Given the description of an element on the screen output the (x, y) to click on. 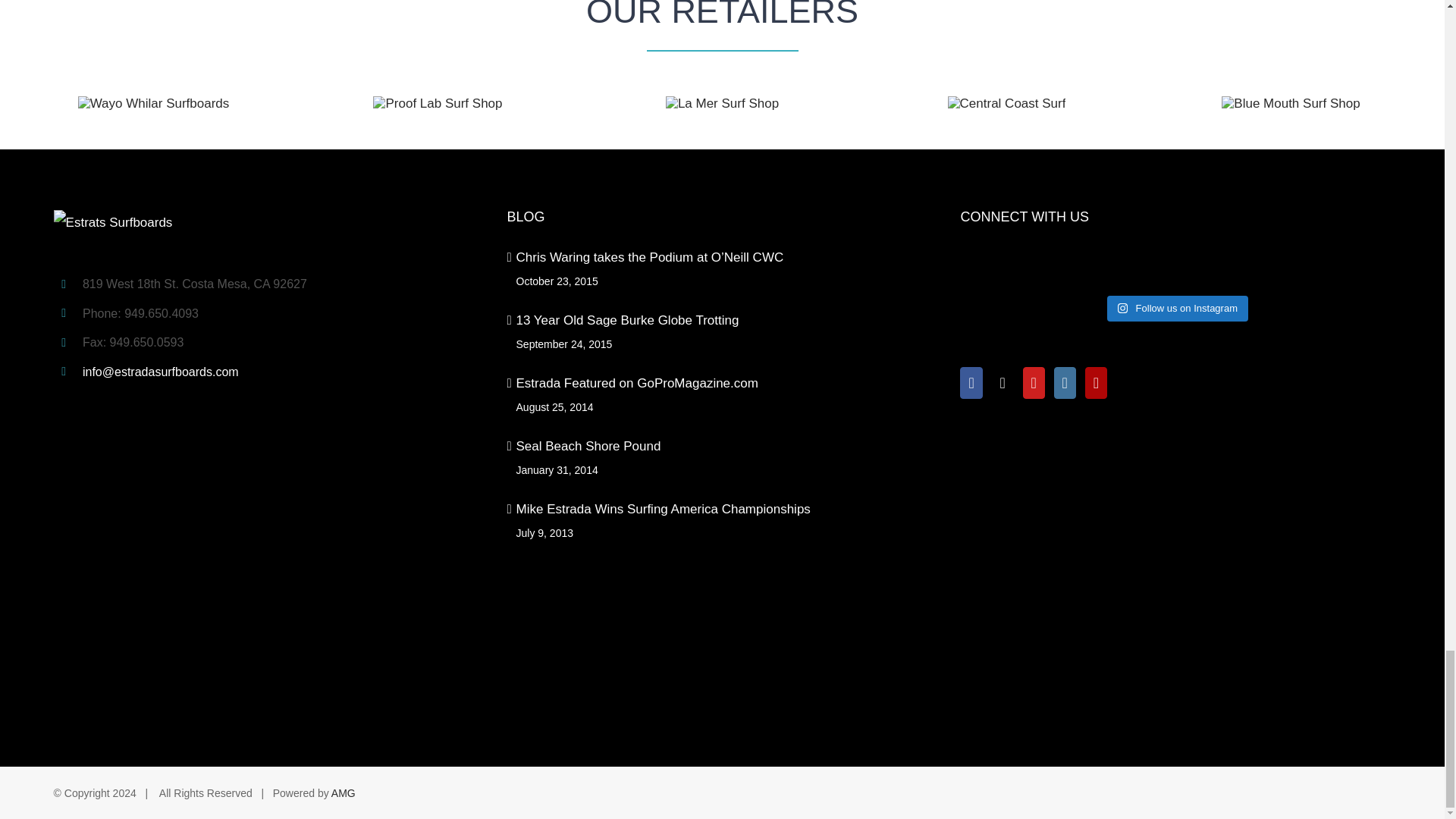
Seal Beach Shore Pound (723, 446)
13 Year Old Sage Burke Globe Trotting (723, 320)
Estrada Featured on GoProMagazine.com (723, 383)
